Given the description of an element on the screen output the (x, y) to click on. 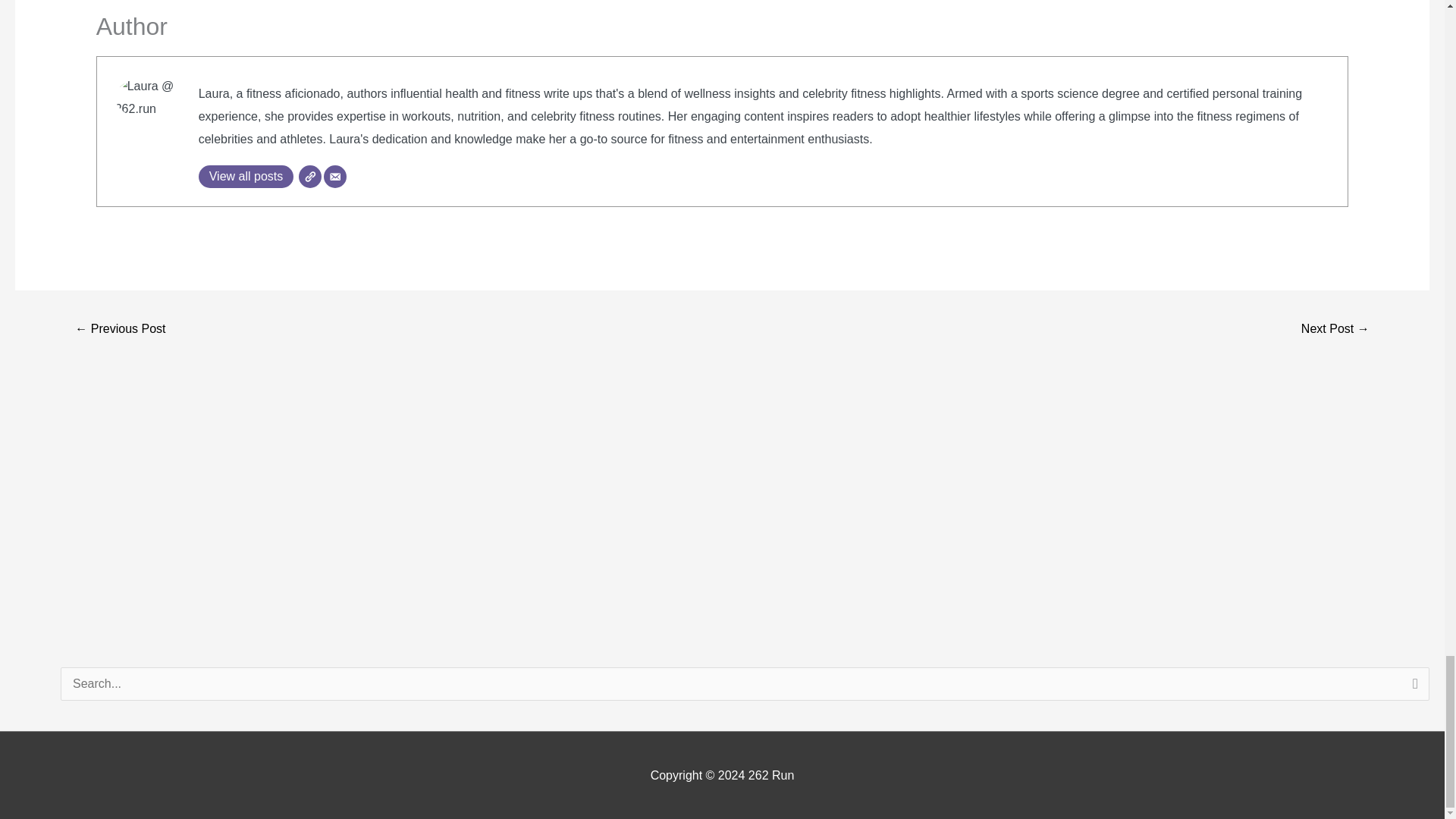
What Incline On Treadmill To Simulate Outdoor Running (1334, 329)
View all posts (246, 176)
View all posts (246, 176)
Me Dan Calambres En La Planta Del Pie (119, 329)
